Given the description of an element on the screen output the (x, y) to click on. 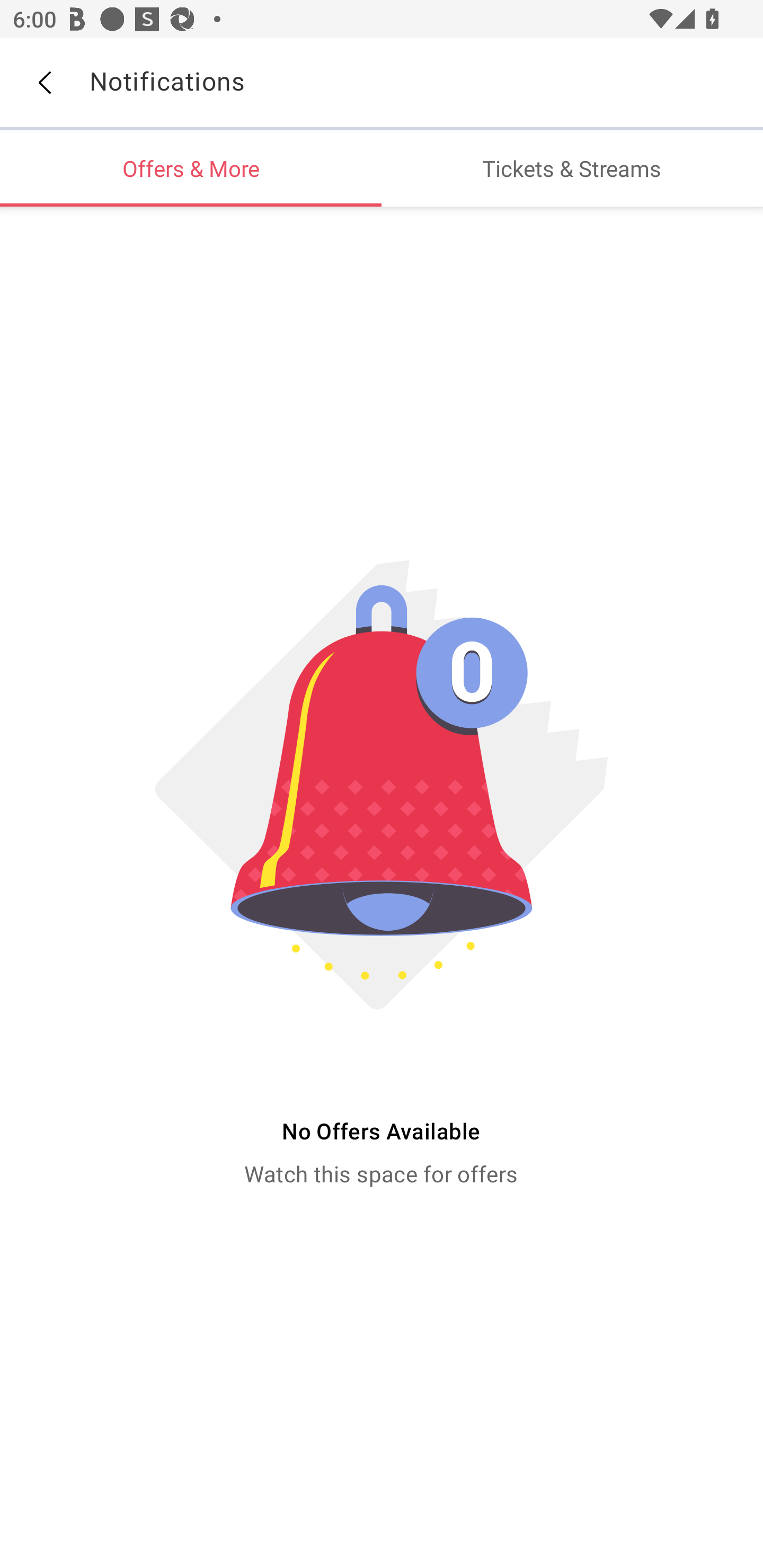
Back (44, 82)
Tickets & Streams (572, 168)
